Given the description of an element on the screen output the (x, y) to click on. 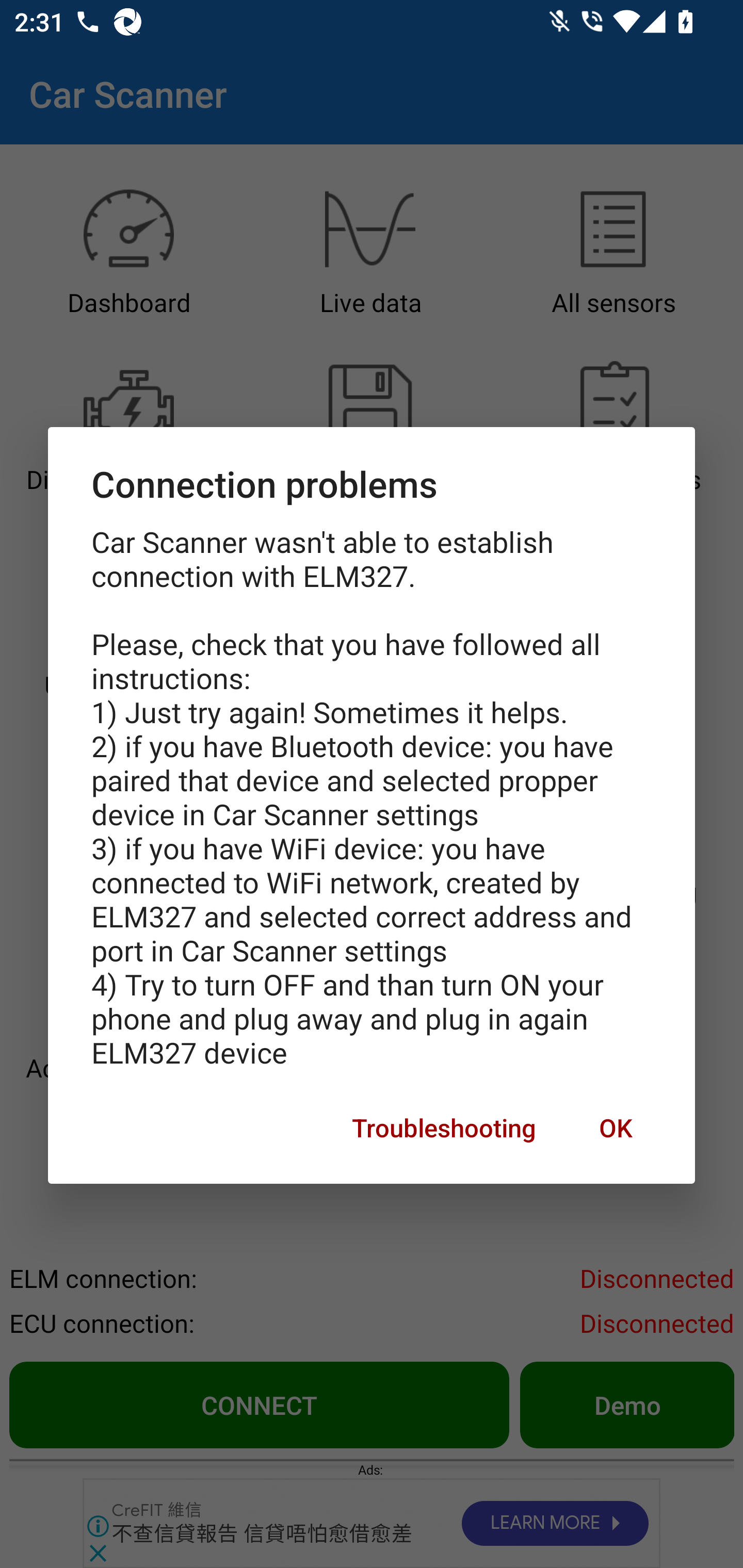
Troubleshooting (443, 1127)
OK (615, 1127)
